Given the description of an element on the screen output the (x, y) to click on. 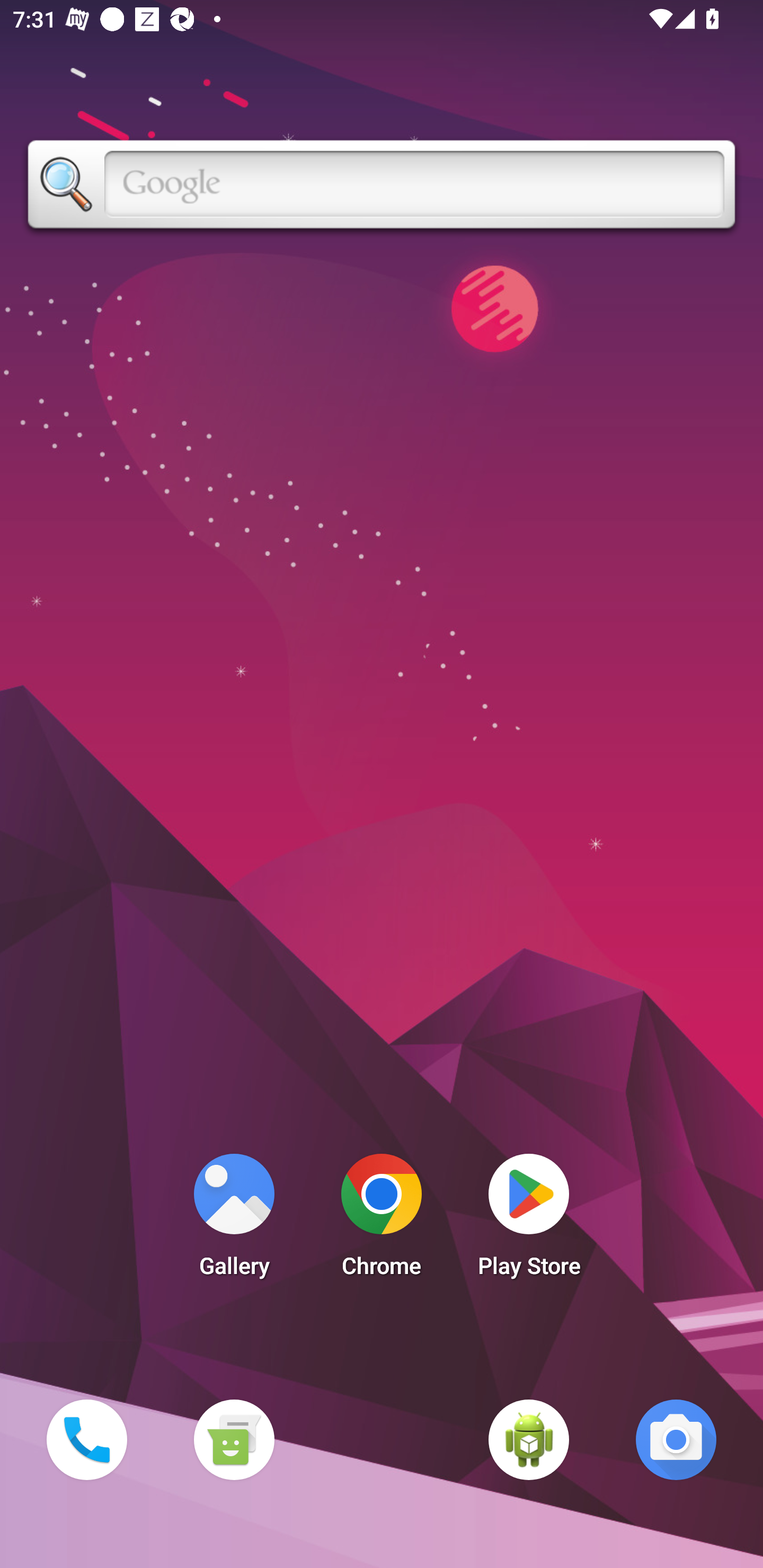
Gallery (233, 1220)
Chrome (381, 1220)
Play Store (528, 1220)
Phone (86, 1439)
Messaging (233, 1439)
WebView Browser Tester (528, 1439)
Camera (676, 1439)
